Given the description of an element on the screen output the (x, y) to click on. 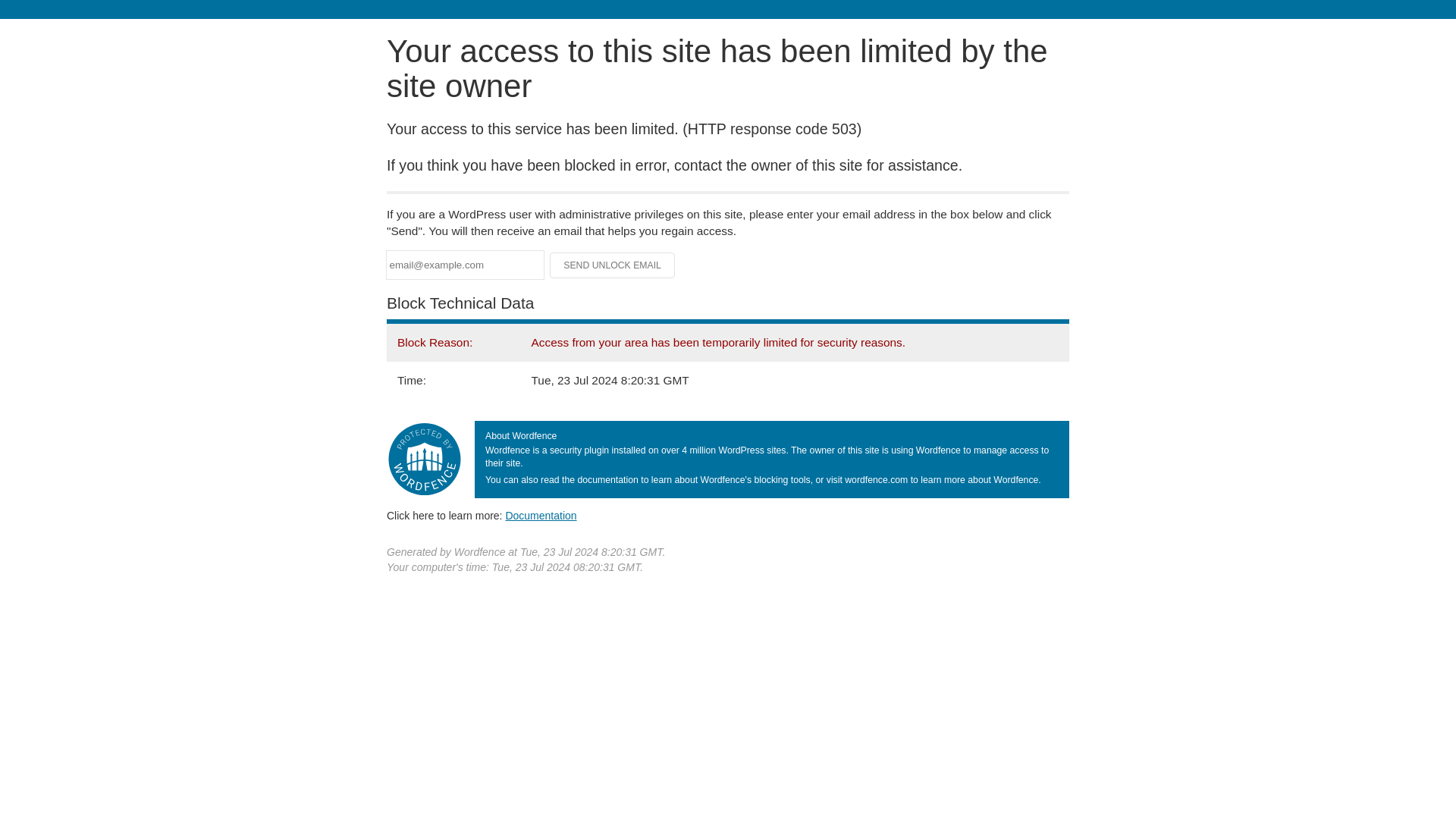
Send Unlock Email (612, 265)
Send Unlock Email (612, 265)
Documentation (540, 515)
